Given the description of an element on the screen output the (x, y) to click on. 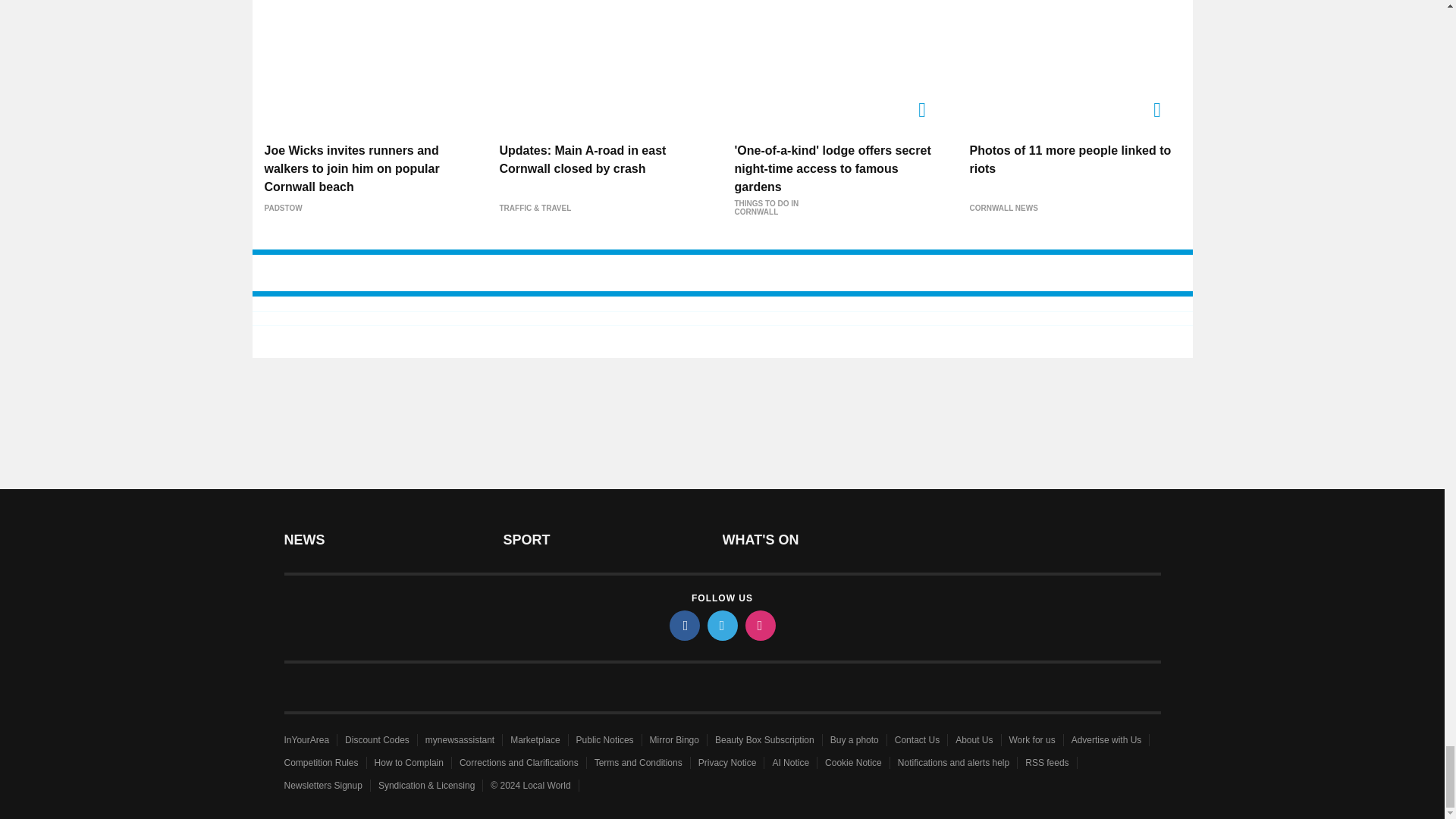
twitter (721, 625)
instagram (759, 625)
facebook (683, 625)
